Given the description of an element on the screen output the (x, y) to click on. 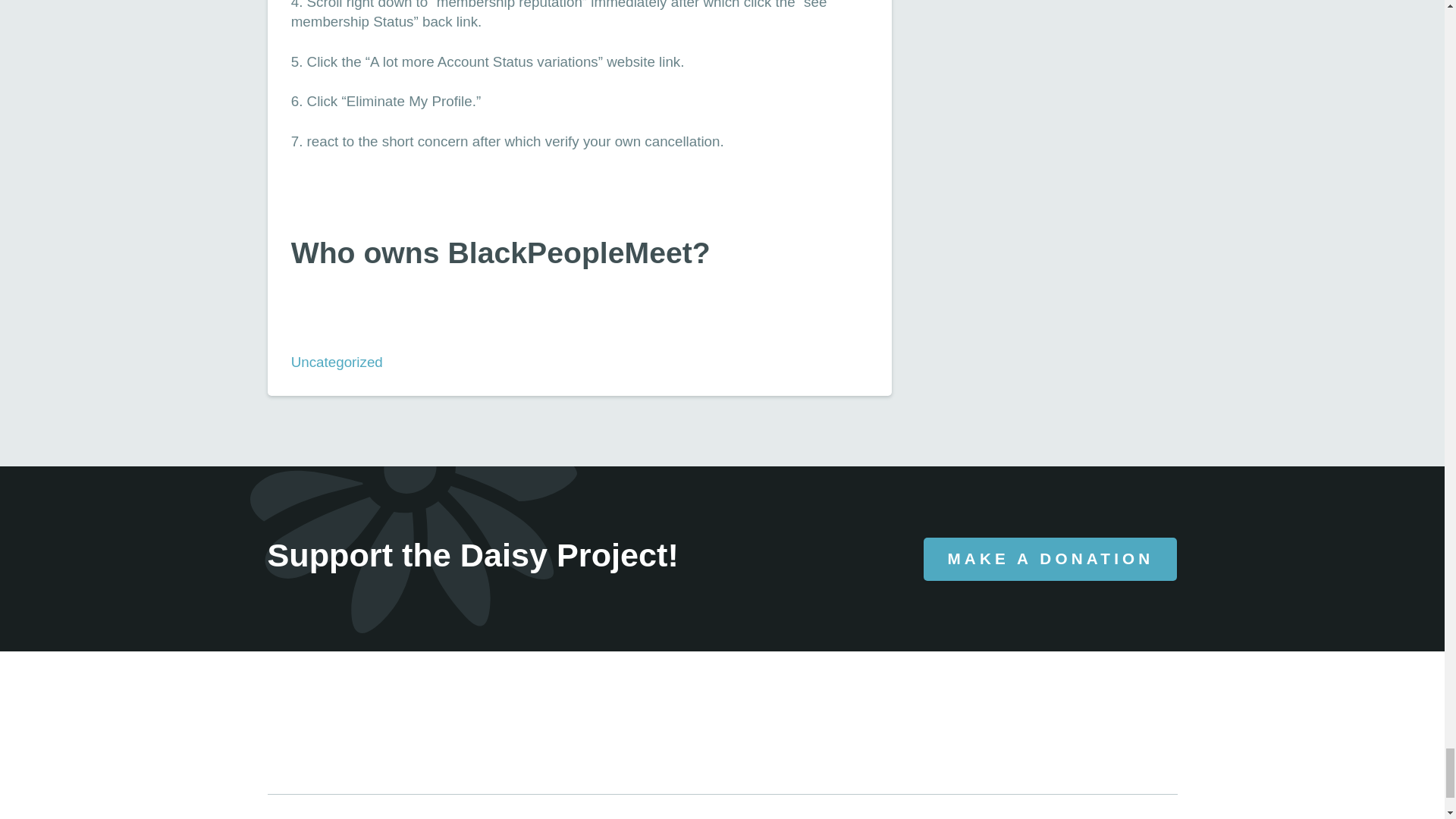
MAKE A DONATION (1049, 558)
Uncategorized (336, 361)
Uncategorized (336, 361)
